Given the description of an element on the screen output the (x, y) to click on. 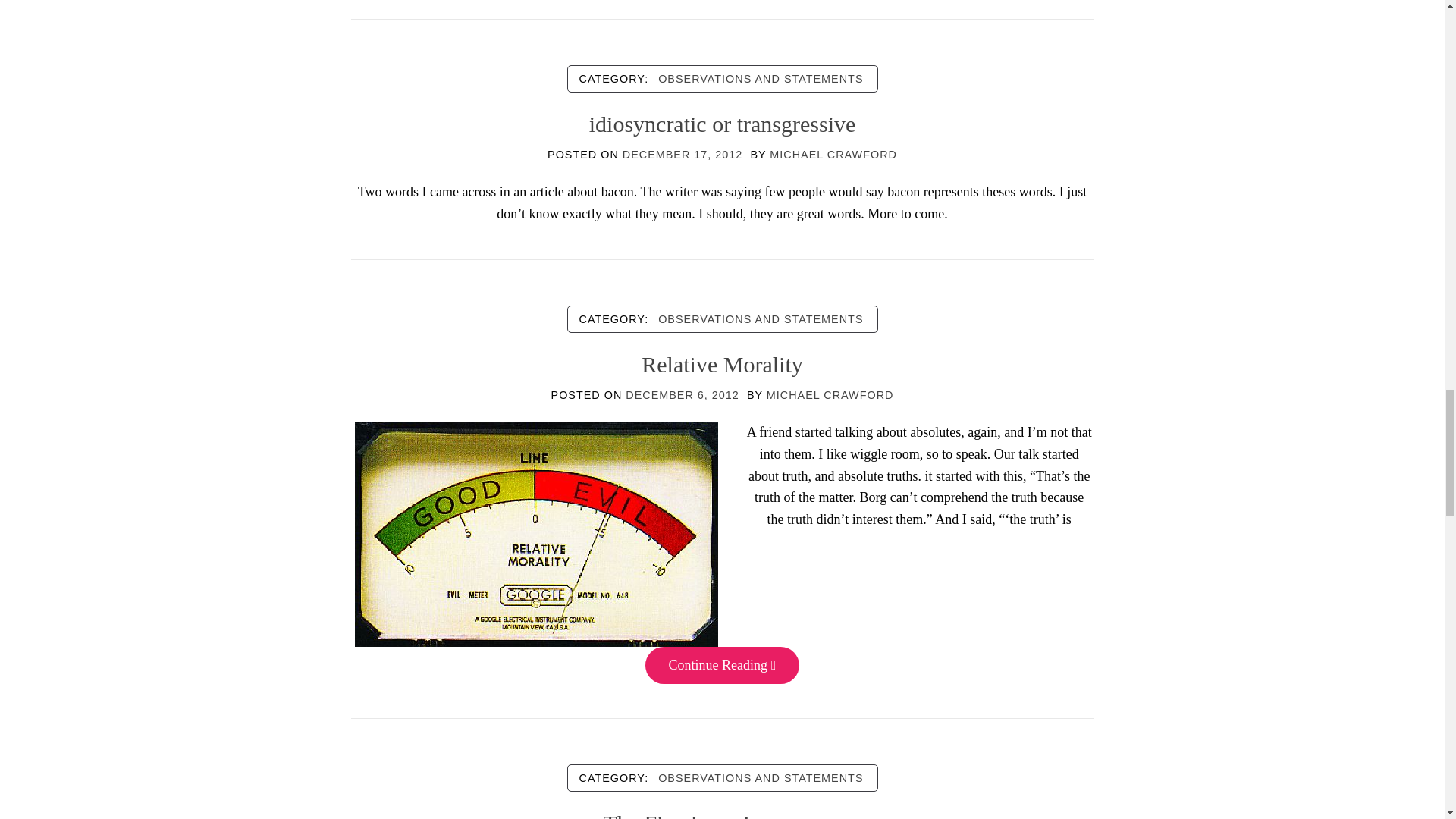
DECEMBER 17, 2012 (682, 154)
MICHAEL CRAWFORD (833, 154)
DECEMBER 6, 2012 (682, 395)
OBSERVATIONS AND STATEMENTS (760, 319)
idiosyncratic or transgressive (722, 123)
Relative Morality (536, 532)
OBSERVATIONS AND STATEMENTS (760, 78)
Relative Morality (722, 364)
MICHAEL CRAWFORD (830, 395)
